Given the description of an element on the screen output the (x, y) to click on. 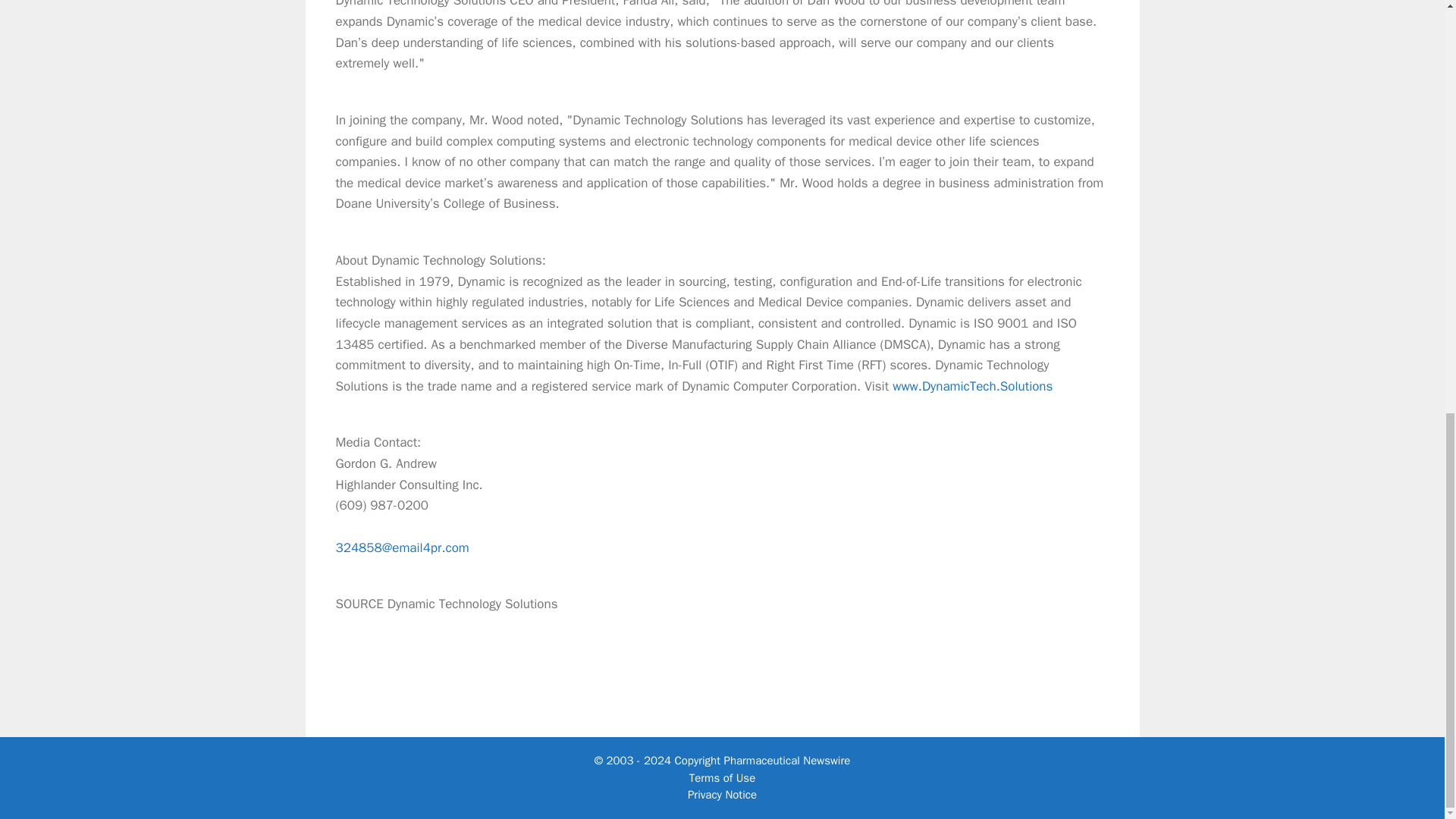
Terms of Use (721, 777)
Privacy Notice (722, 794)
www.DynamicTech.Solutions (972, 385)
